Given the description of an element on the screen output the (x, y) to click on. 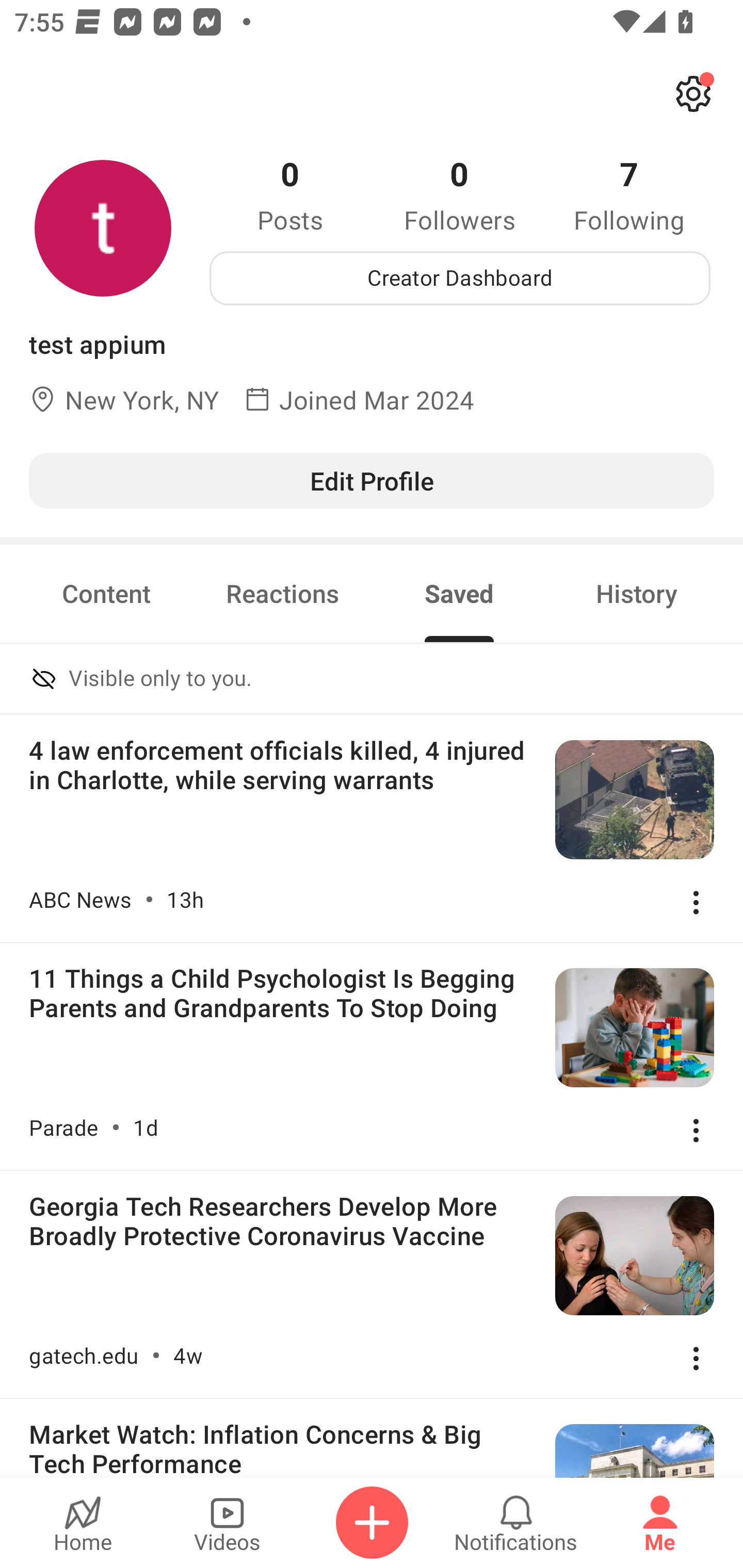
0 Followers (459, 194)
7 Following (629, 194)
Creator Dashboard (459, 277)
Edit Profile (371, 480)
Content (105, 593)
Reactions (282, 593)
History (636, 593)
Home (83, 1522)
Videos (227, 1522)
Notifications (516, 1522)
